Given the description of an element on the screen output the (x, y) to click on. 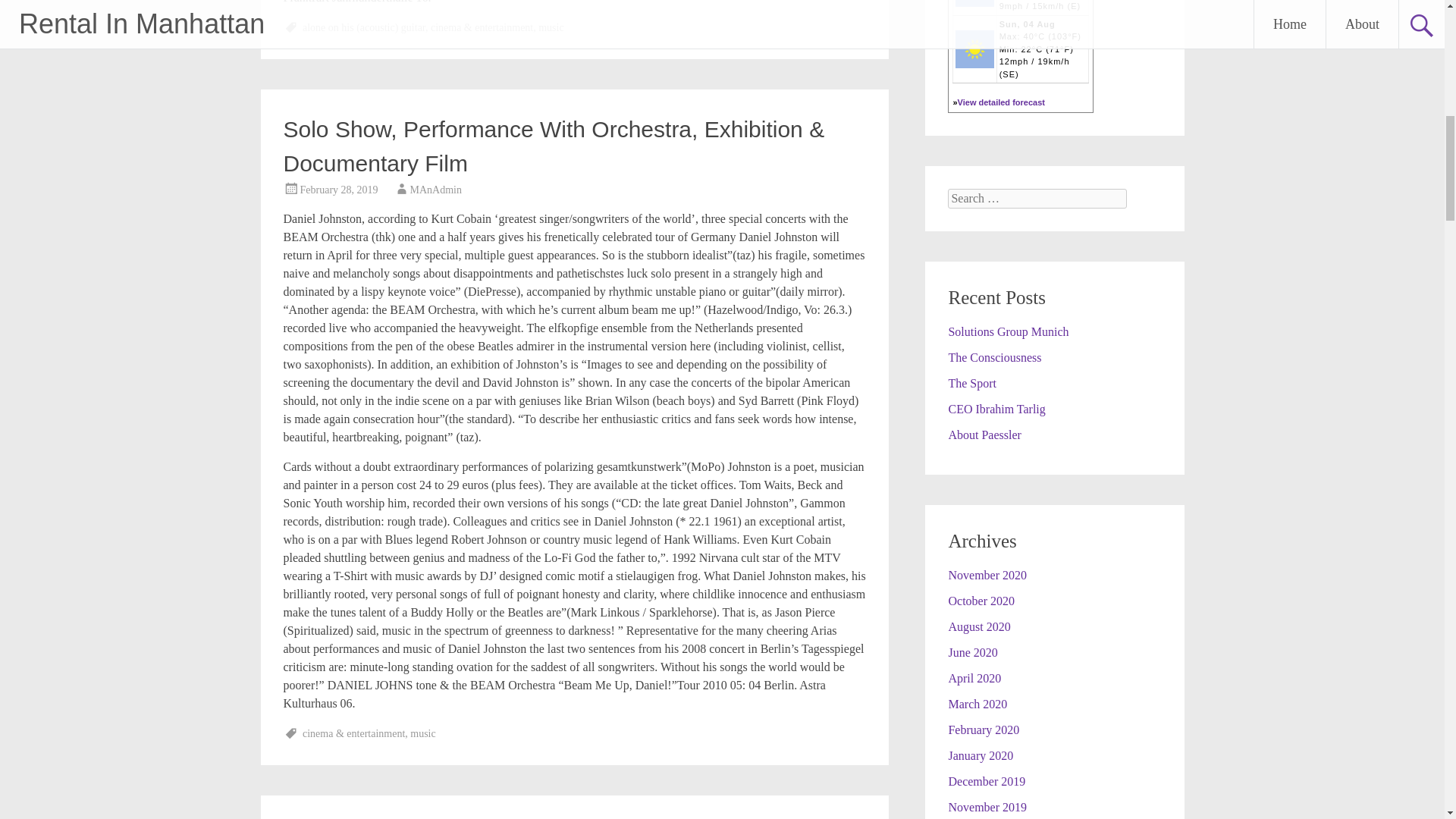
music (550, 27)
MAnAdmin (435, 189)
February 28, 2019 (338, 189)
music (422, 733)
